Given the description of an element on the screen output the (x, y) to click on. 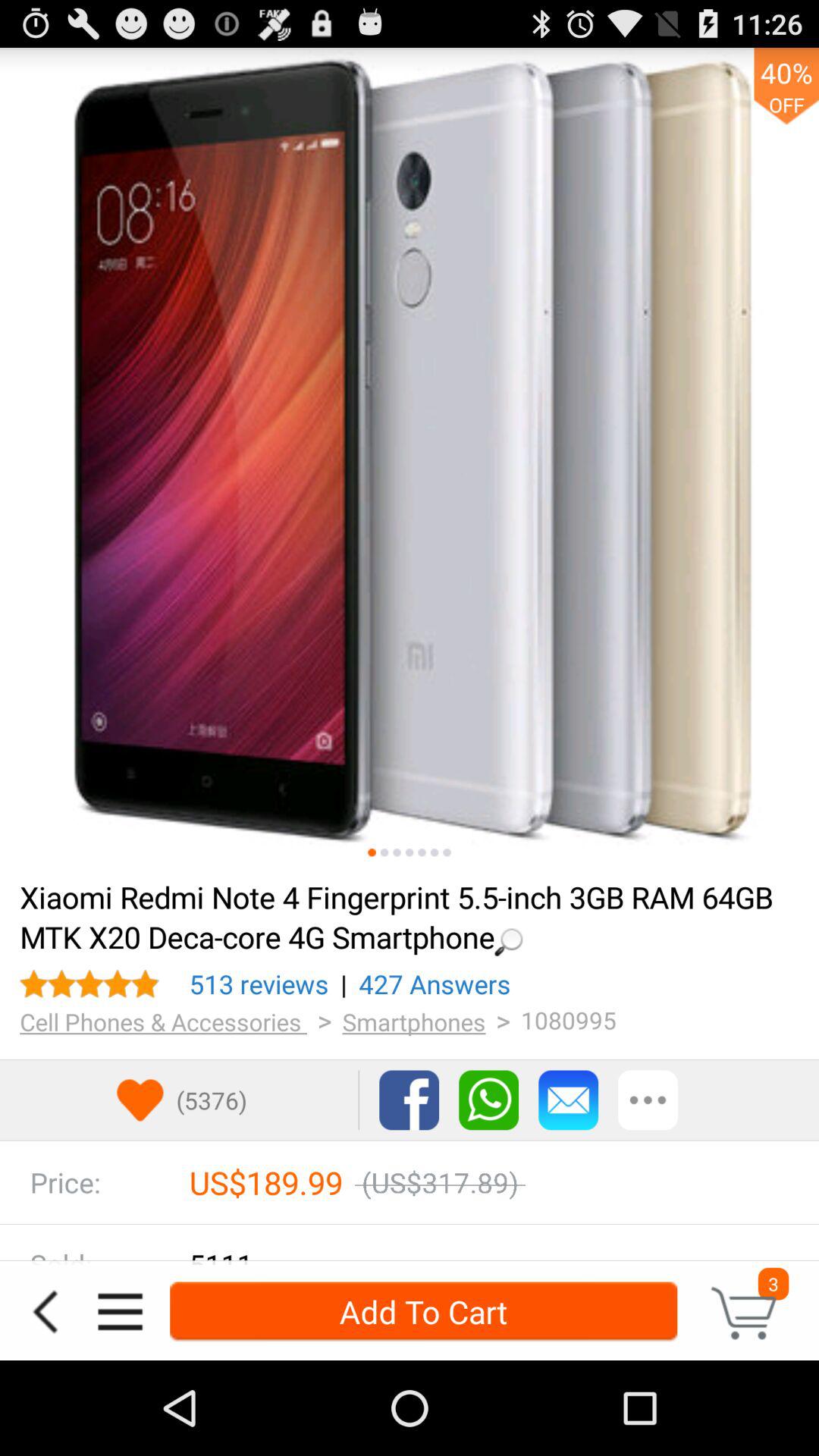
select the item above loading... icon (396, 852)
